Given the description of an element on the screen output the (x, y) to click on. 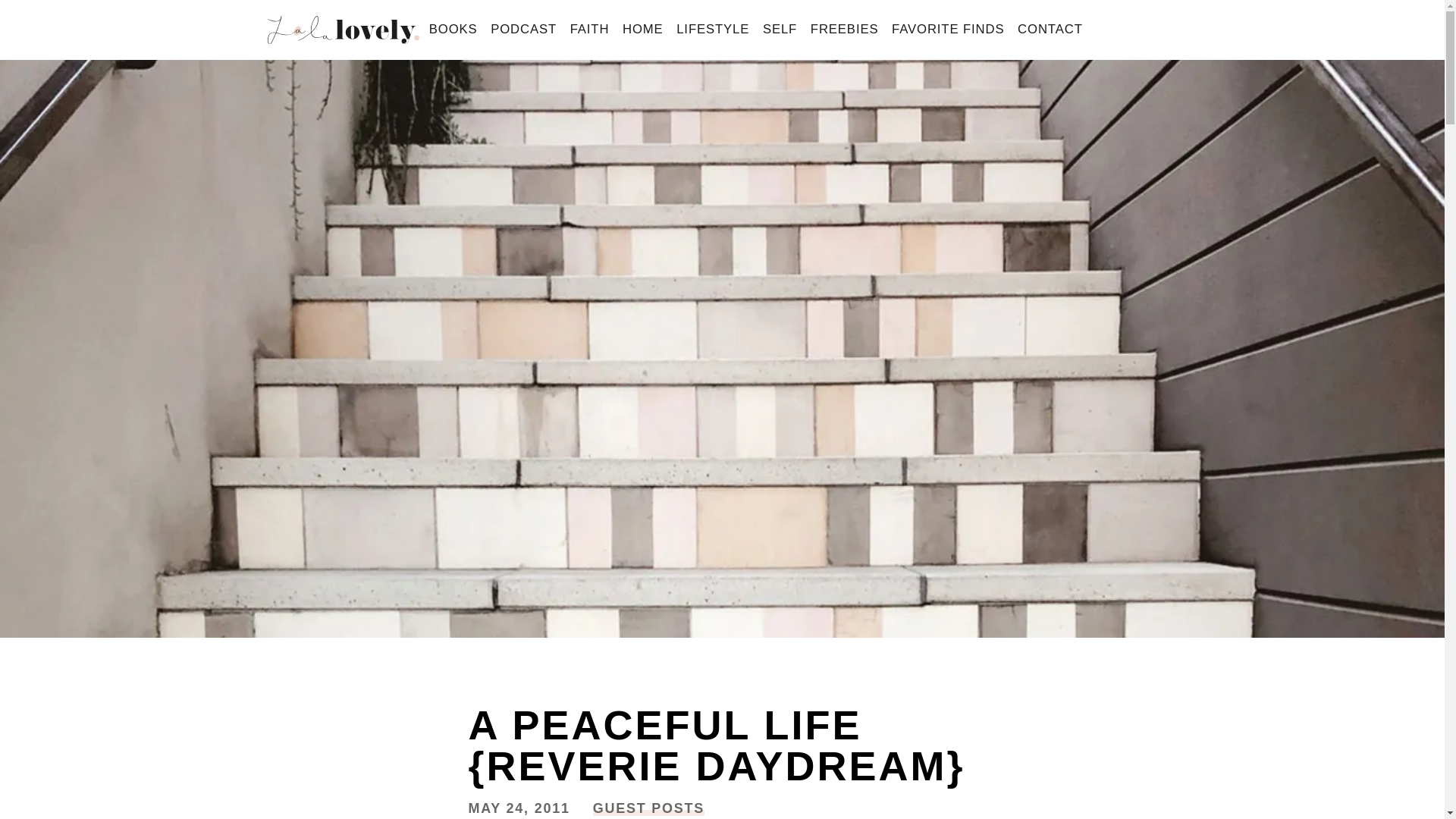
LIFESTYLE (712, 29)
PODCAST (523, 29)
HOME (642, 29)
FAVORITE FINDS (947, 29)
FREEBIES (844, 29)
SELF (779, 29)
BOOKS (452, 29)
FAITH (589, 29)
Search (40, 17)
